Given the description of an element on the screen output the (x, y) to click on. 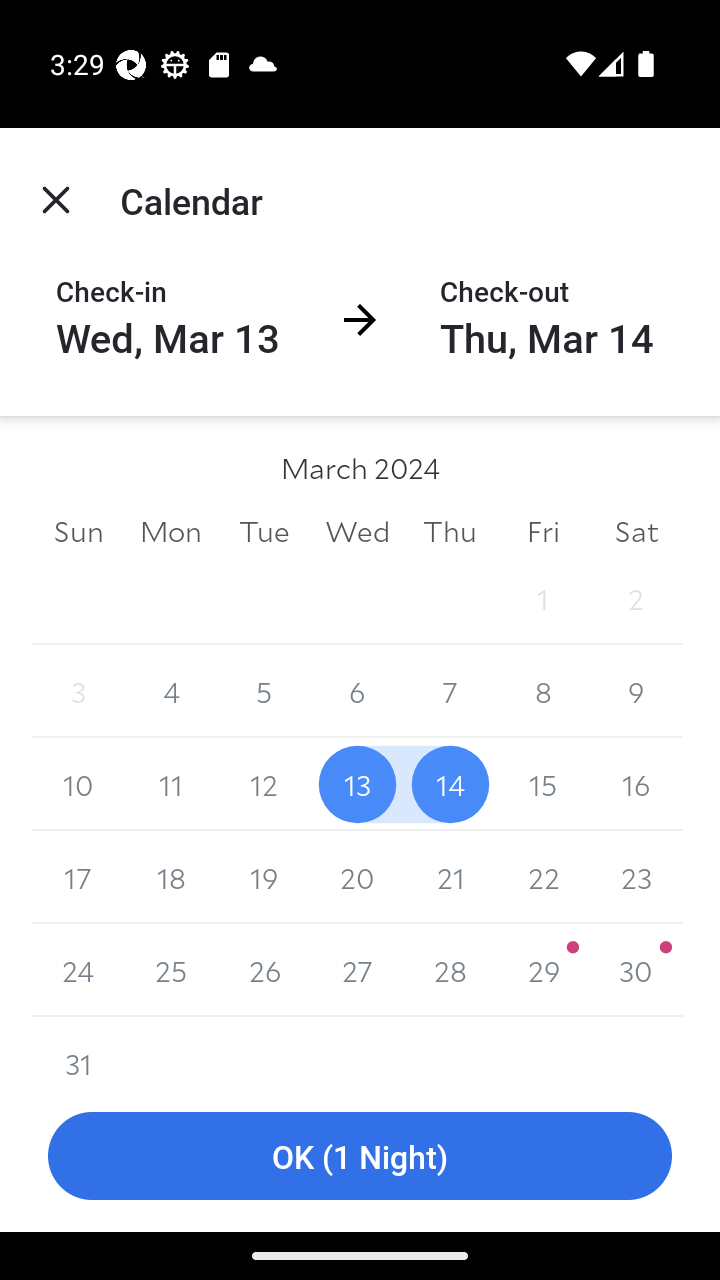
Sun (78, 530)
Mon (171, 530)
Tue (264, 530)
Wed (357, 530)
Thu (449, 530)
Fri (542, 530)
Sat (636, 530)
1 1 March 2024 (542, 598)
2 2 March 2024 (636, 598)
3 3 March 2024 (78, 691)
4 4 March 2024 (171, 691)
5 5 March 2024 (264, 691)
6 6 March 2024 (357, 691)
7 7 March 2024 (449, 691)
8 8 March 2024 (542, 691)
9 9 March 2024 (636, 691)
10 10 March 2024 (78, 784)
11 11 March 2024 (171, 784)
12 12 March 2024 (264, 784)
13 13 March 2024 (357, 784)
14 14 March 2024 (449, 784)
15 15 March 2024 (542, 784)
16 16 March 2024 (636, 784)
17 17 March 2024 (78, 877)
18 18 March 2024 (171, 877)
19 19 March 2024 (264, 877)
20 20 March 2024 (357, 877)
21 21 March 2024 (449, 877)
22 22 March 2024 (542, 877)
23 23 March 2024 (636, 877)
24 24 March 2024 (78, 970)
25 25 March 2024 (171, 970)
26 26 March 2024 (264, 970)
27 27 March 2024 (357, 970)
28 28 March 2024 (449, 970)
29 29 March 2024 (542, 970)
30 30 March 2024 (636, 970)
31 31 March 2024 (78, 1048)
OK (1 Night) (359, 1156)
